Given the description of an element on the screen output the (x, y) to click on. 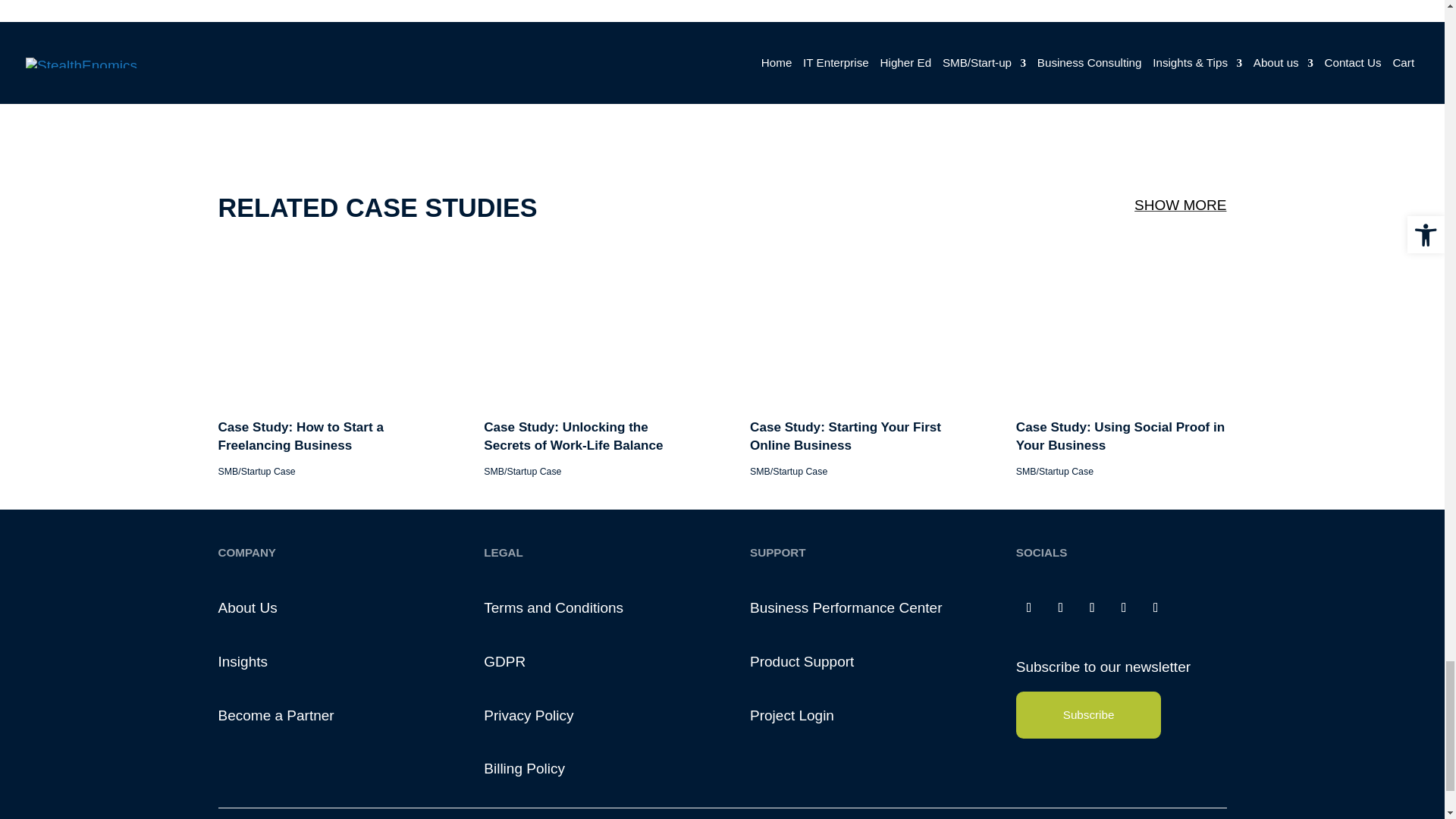
Case Study: Unlocking the Secrets of Work-Life Balance (619, 569)
Case Study: Unlocking the Secrets of Work-Life Balance (603, 674)
Case Study: How to Start a Freelancing Business (340, 569)
Case Study: Using Social Proof in Your Business (1178, 674)
Case Study: How to Start a Freelancing Business (317, 674)
Case Study: Starting Your First Online Business (889, 674)
Case Study: Starting Your First Online Business (899, 569)
Case Study: Using Social Proof in Your Business (1179, 569)
